Given the description of an element on the screen output the (x, y) to click on. 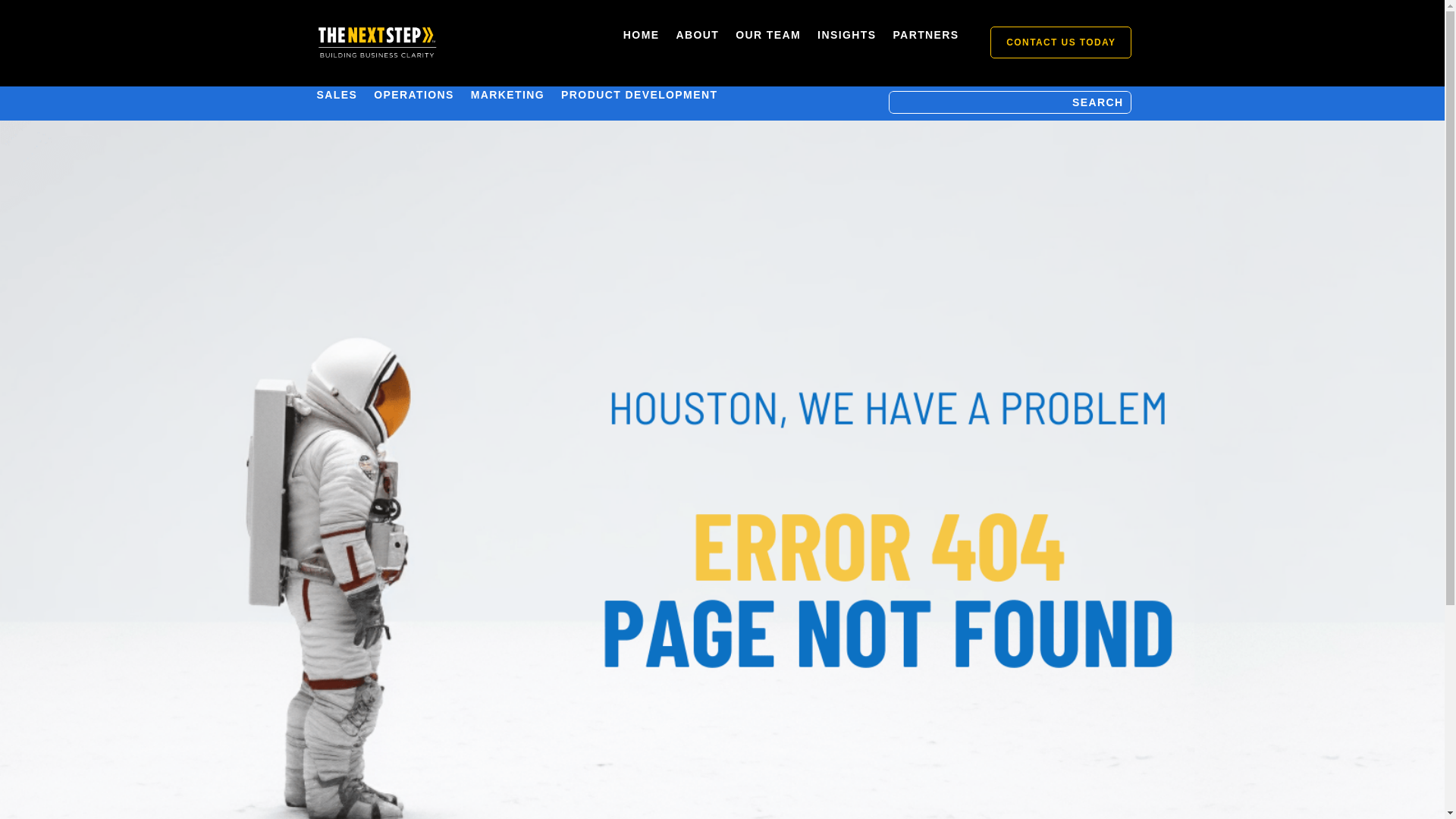
ABOUT (697, 37)
INSIGHTS (846, 37)
SALES (337, 97)
MARKETING (507, 97)
PARTNERS (925, 37)
Search (25, 15)
CONTACT US TODAY (1060, 41)
PRODUCT DEVELOPMENT (638, 97)
OUR TEAM (767, 37)
HOME (641, 37)
OPERATIONS (414, 97)
TheNextStep-Logo-Yellow-White (376, 42)
